Given the description of an element on the screen output the (x, y) to click on. 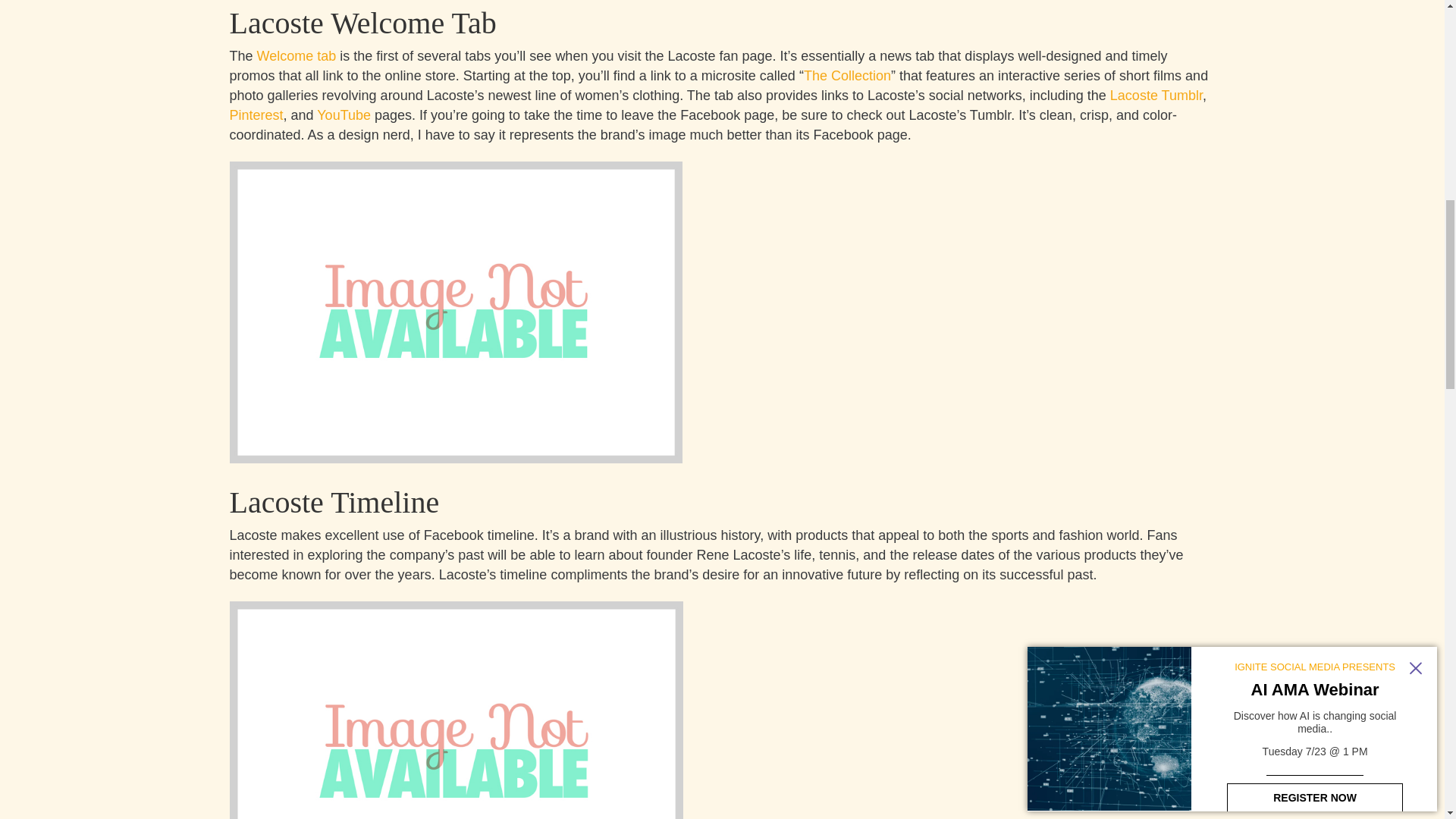
Welcome tab (296, 55)
